Given the description of an element on the screen output the (x, y) to click on. 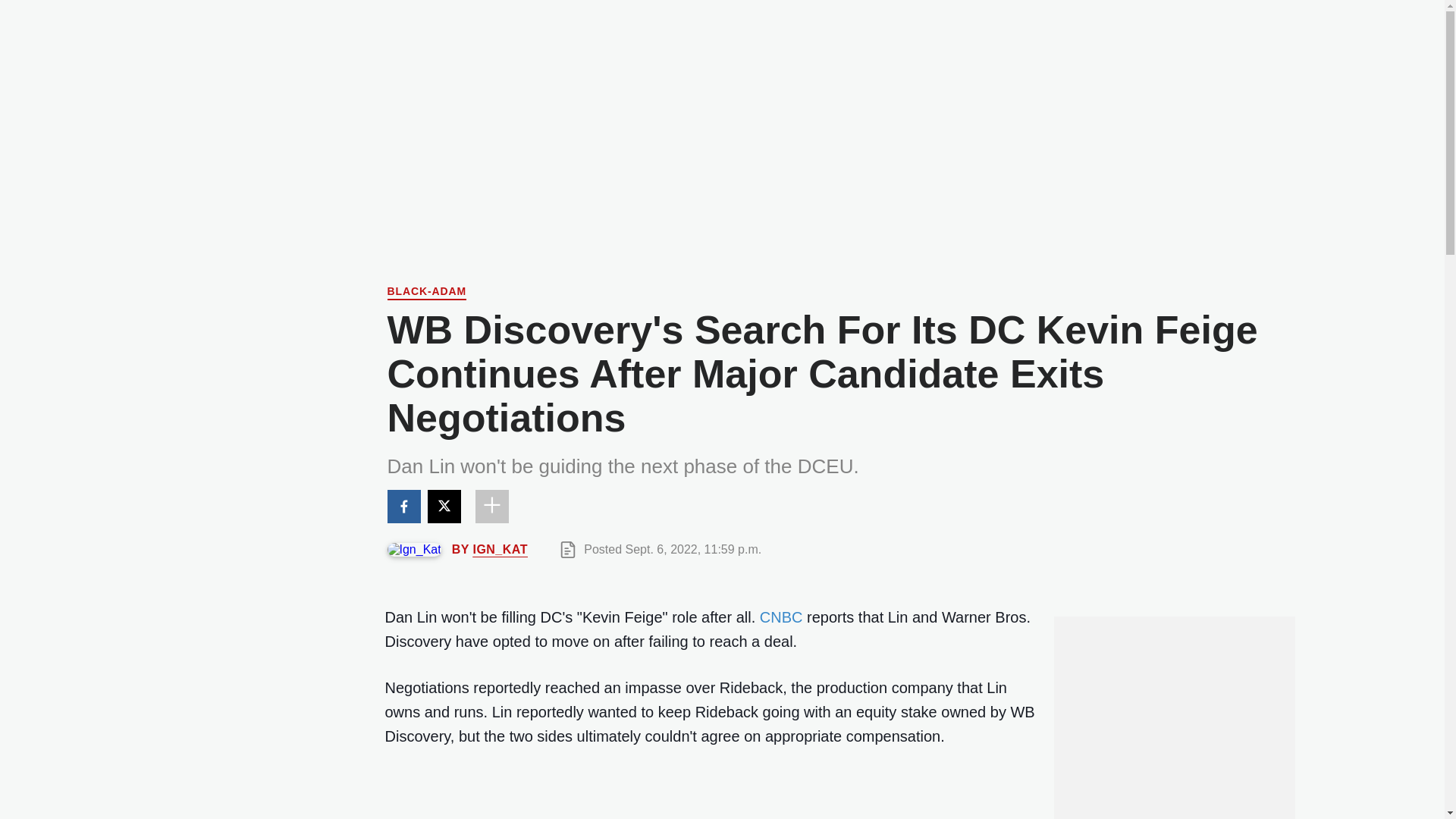
CNBC (781, 617)
black-adam (426, 292)
BLACK-ADAM (426, 292)
